Given the description of an element on the screen output the (x, y) to click on. 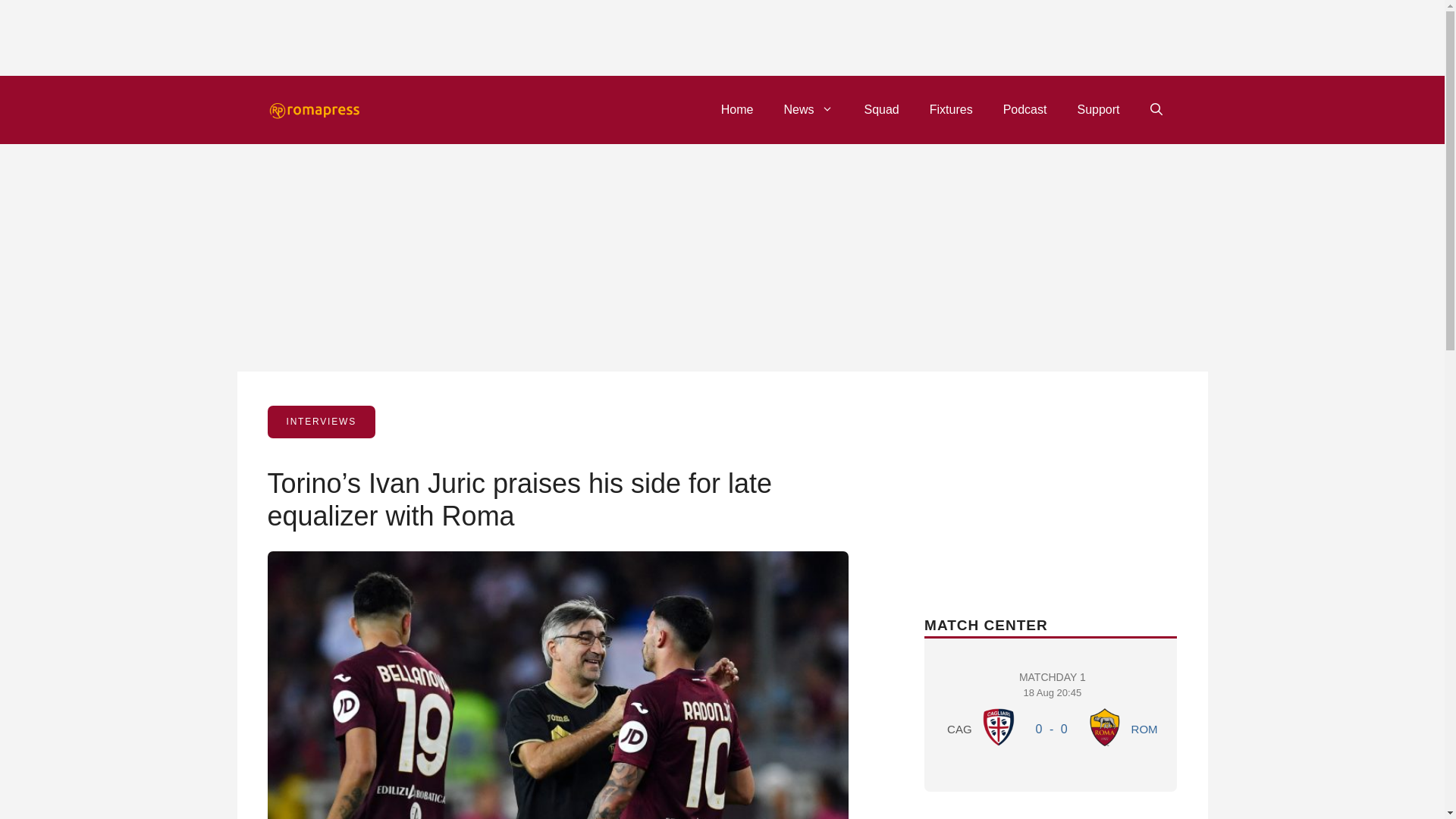
ROM (1144, 728)
Fixtures (951, 109)
ROM (1052, 710)
Home (1105, 727)
Podcast (737, 109)
Squad (1025, 109)
CAG (881, 109)
Support (998, 727)
0 - 0 (1097, 109)
